Given the description of an element on the screen output the (x, y) to click on. 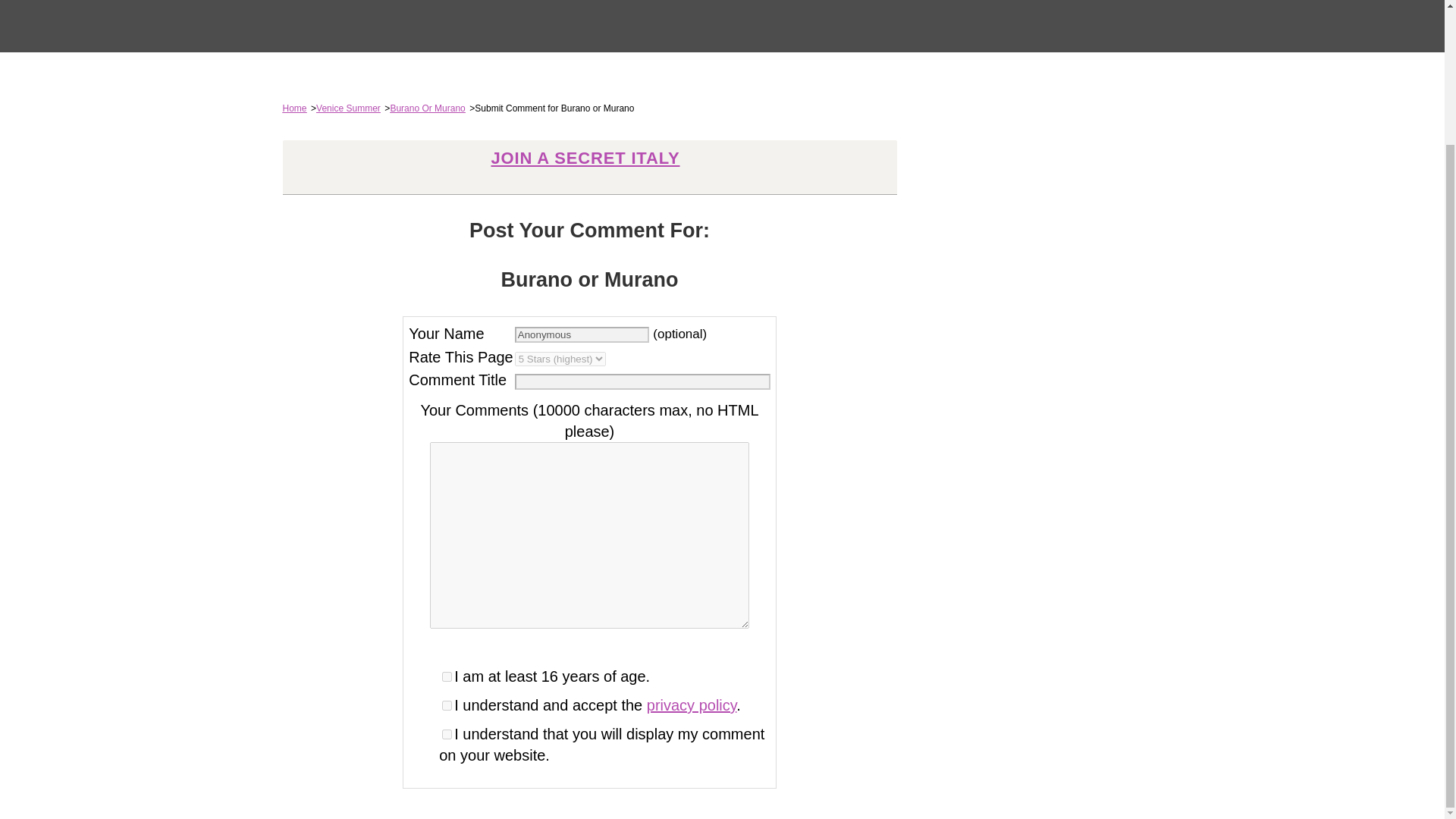
Anonymous (582, 334)
1 (446, 705)
1 (446, 676)
1 (446, 734)
